Given the description of an element on the screen output the (x, y) to click on. 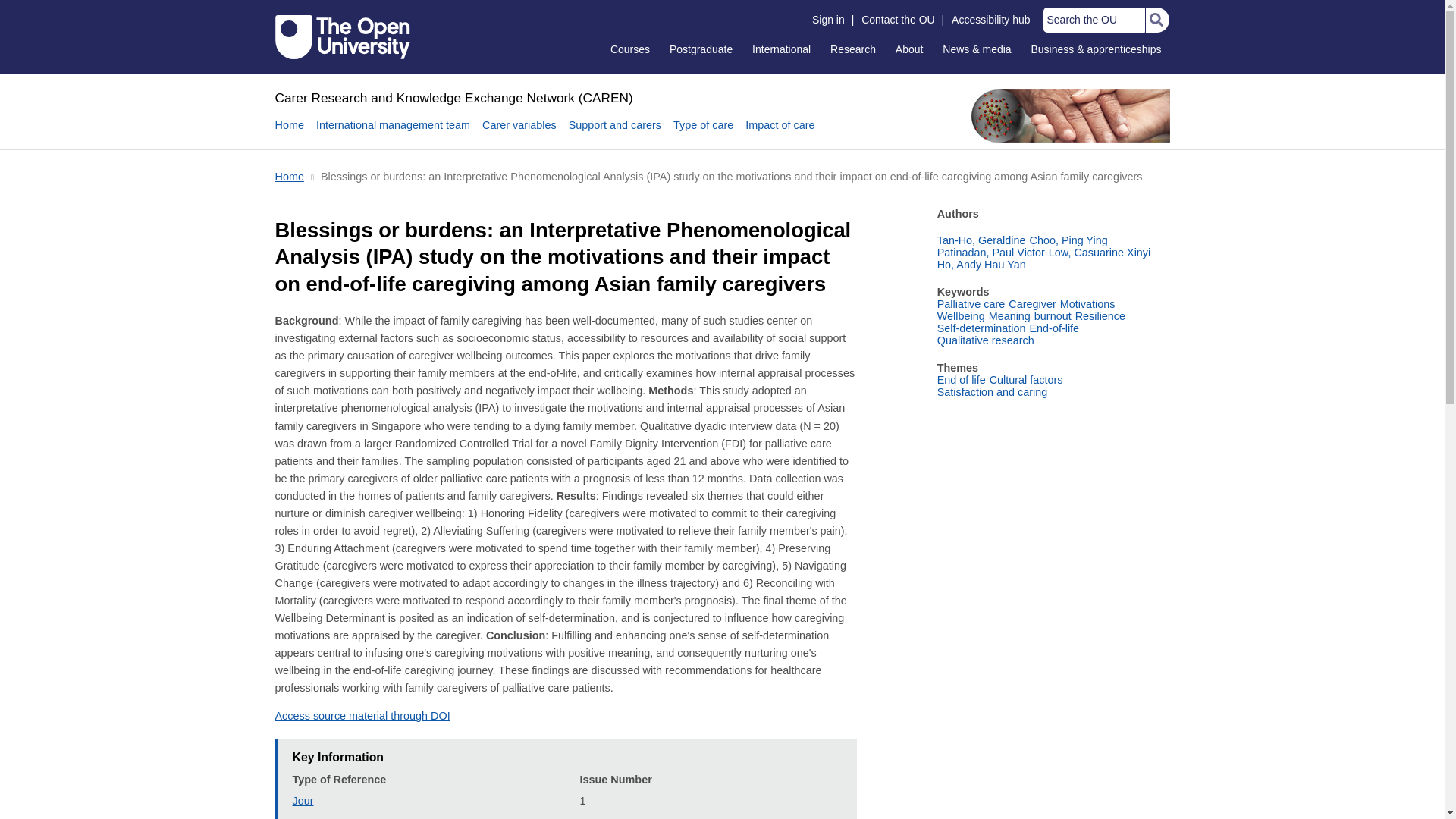
Sign in (828, 19)
The Open University (342, 36)
About (908, 49)
Type of care (702, 133)
Access source material through DOI (362, 715)
Carer variables (518, 133)
Home (288, 133)
Impact of care (779, 133)
Courses (630, 49)
Contact the OU (898, 19)
